Given the description of an element on the screen output the (x, y) to click on. 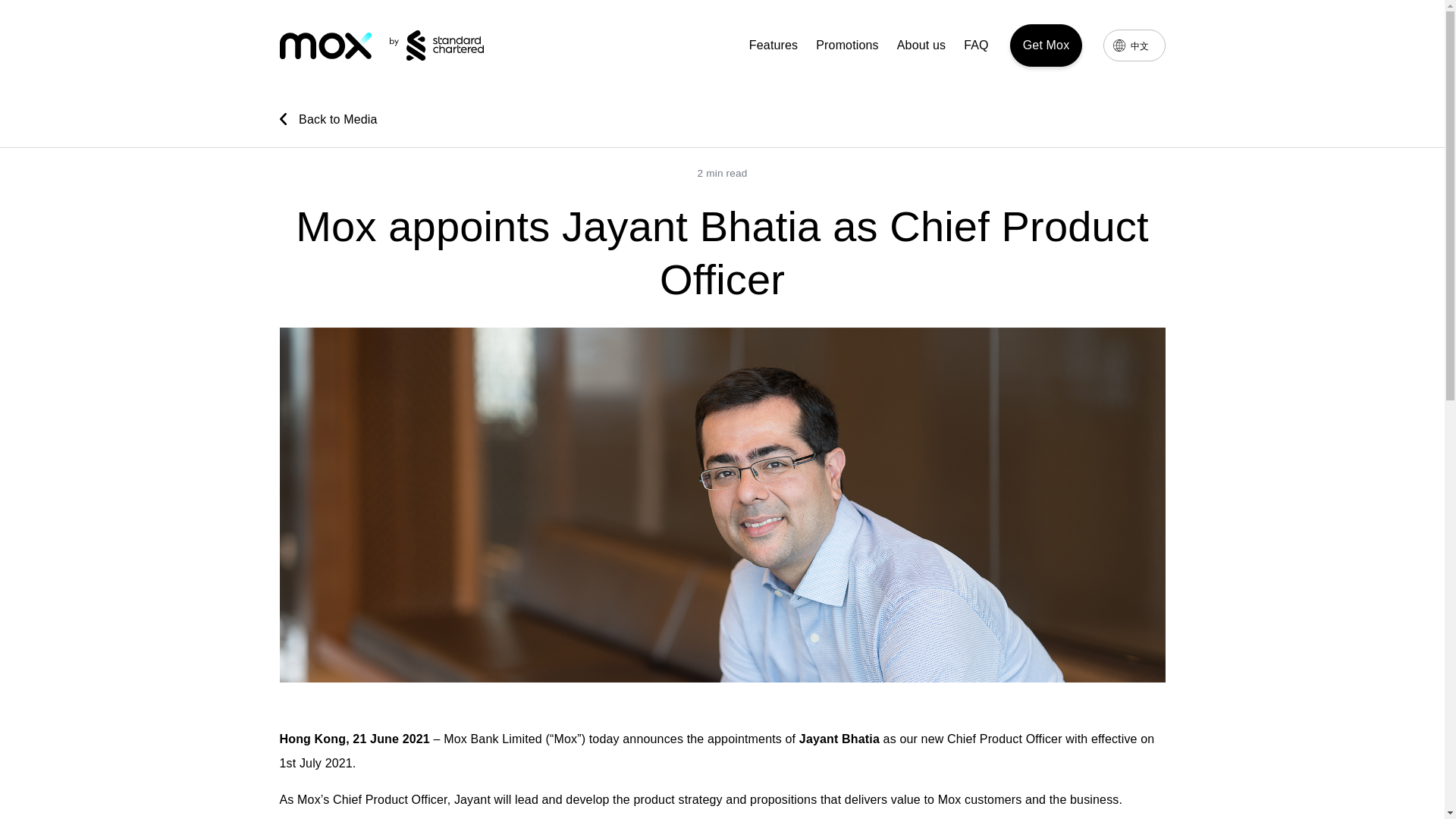
FAQ (975, 45)
About us (920, 45)
Features (773, 45)
Promotions (847, 45)
Get Mox (1046, 45)
Back to Media (721, 119)
